Given the description of an element on the screen output the (x, y) to click on. 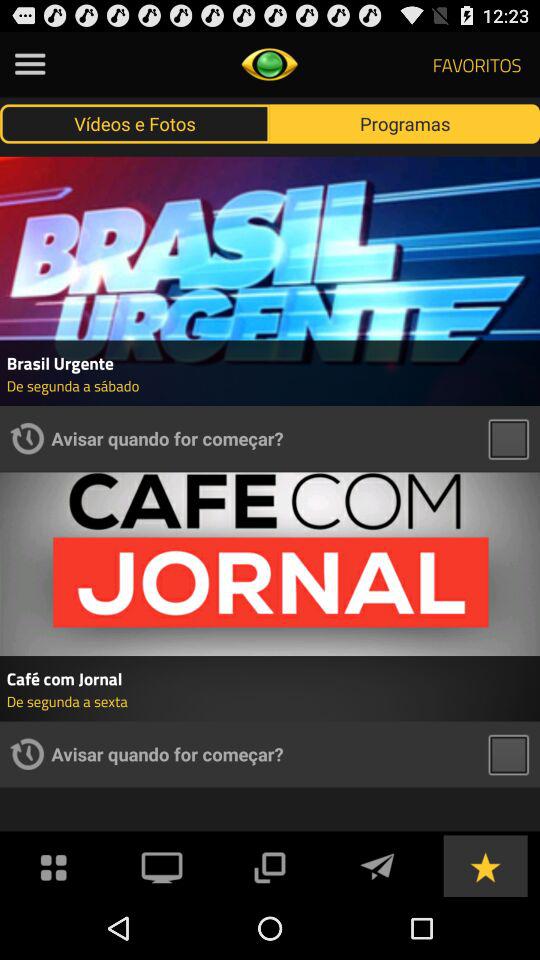
shows marker box (508, 437)
